Given the description of an element on the screen output the (x, y) to click on. 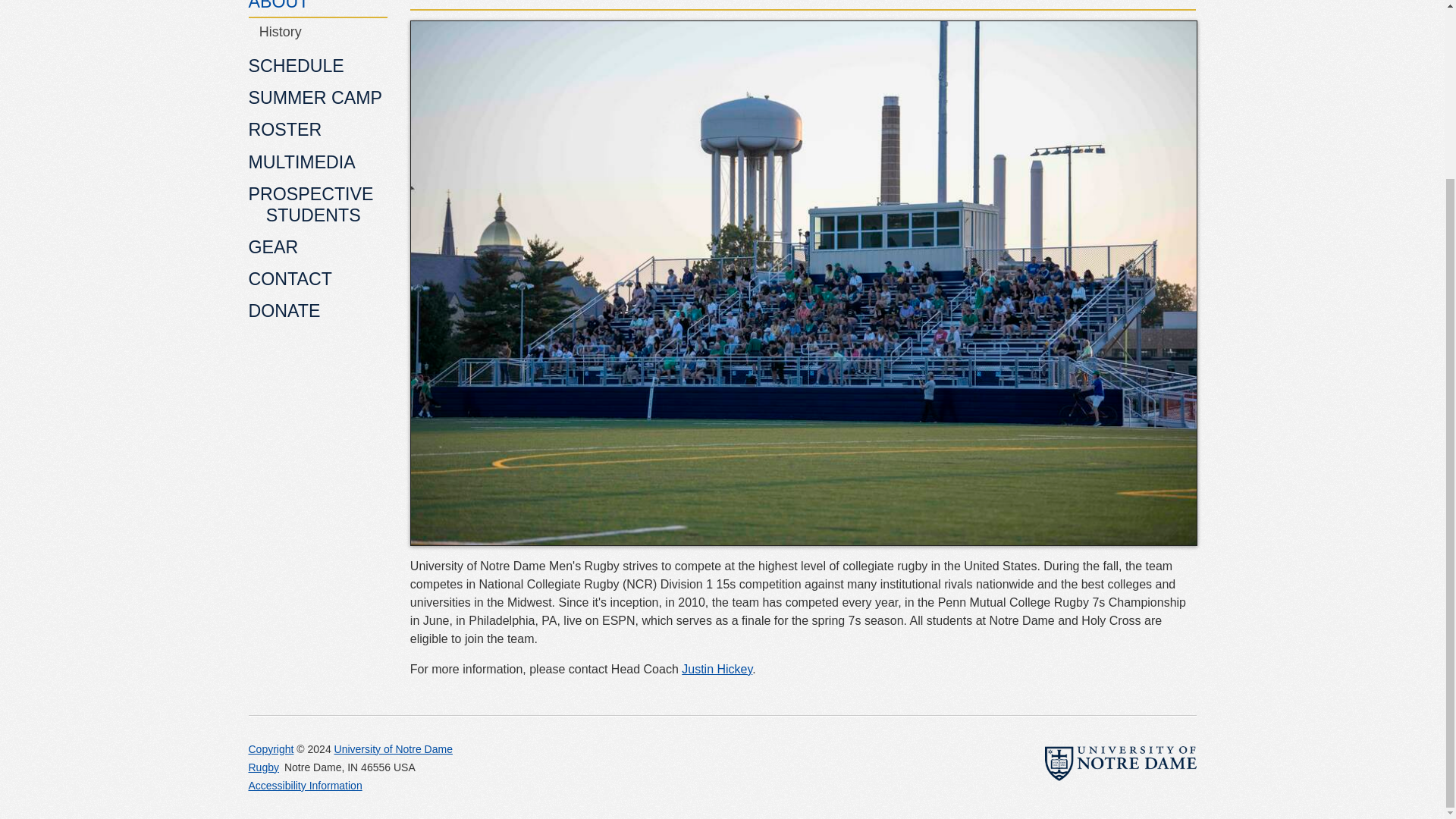
History (317, 32)
DONATE (317, 312)
University of Notre Dame (393, 748)
Rugby (263, 767)
PROSPECTIVE STUDENTS (317, 205)
Copyright (271, 748)
ABOUT (317, 8)
GEAR (317, 247)
SUMMER CAMP (317, 98)
CONTACT (317, 280)
ROSTER (317, 131)
MULTIMEDIA (317, 163)
Justin Hickey (716, 668)
Accessibility Information (305, 785)
SCHEDULE (317, 66)
